Given the description of an element on the screen output the (x, y) to click on. 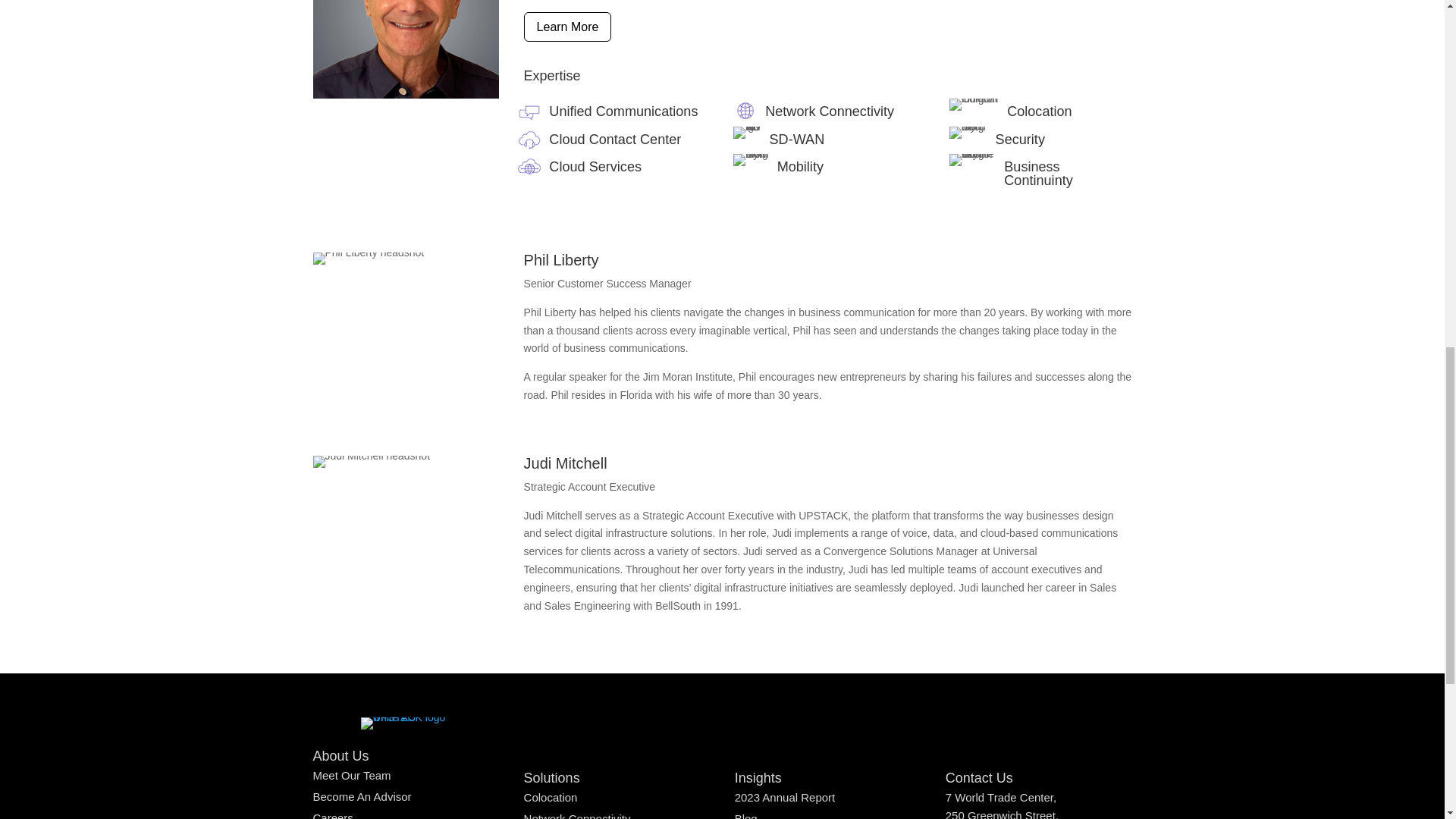
Universal Telecommunications Inc. 6 (750, 159)
Universal Telecommunications Inc. 7 (973, 104)
Universal Telecommunications Inc. 8 (968, 132)
Universal Telecommunications Inc. 9 (972, 159)
Universal Telecommunications Inc. 4 (745, 110)
phil-liberty-grey-2-300x300 (368, 258)
mervyn-gervis-grey-2-300x300-1 (406, 49)
Universal Telecommunications Inc. 2 (528, 138)
Universal Telecommunications Inc. 3 (528, 165)
Learn More (567, 26)
